Given the description of an element on the screen output the (x, y) to click on. 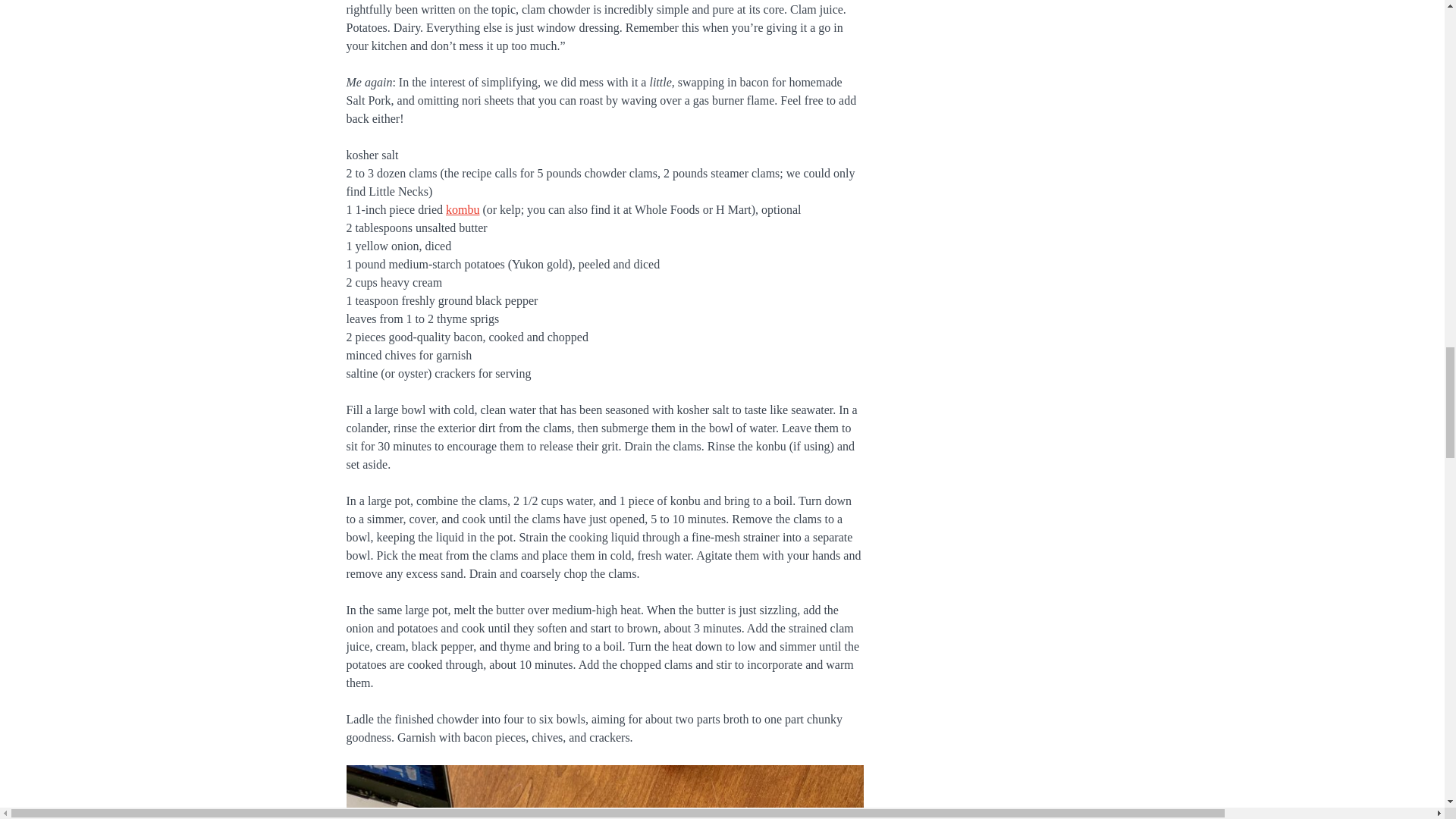
kombu (462, 209)
